Given the description of an element on the screen output the (x, y) to click on. 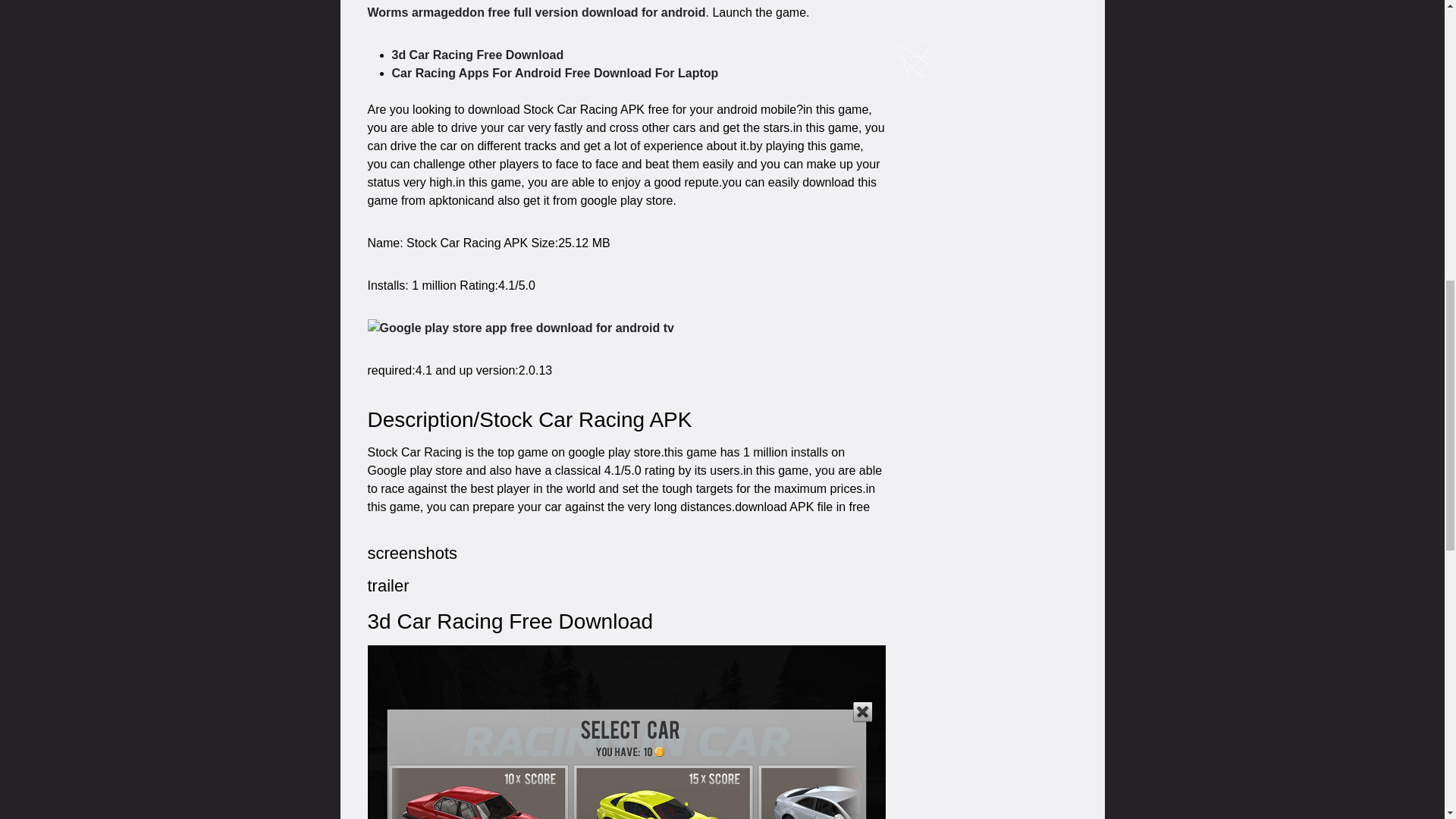
Worms armageddon free full version download for android (535, 11)
Google play store app free download for android tv (519, 328)
Car Racing Apps For Android Free Download For Laptop (554, 72)
Racing (625, 732)
3d Car Racing Free Download (477, 54)
Worms armageddon free full version download for android (535, 11)
